Given the description of an element on the screen output the (x, y) to click on. 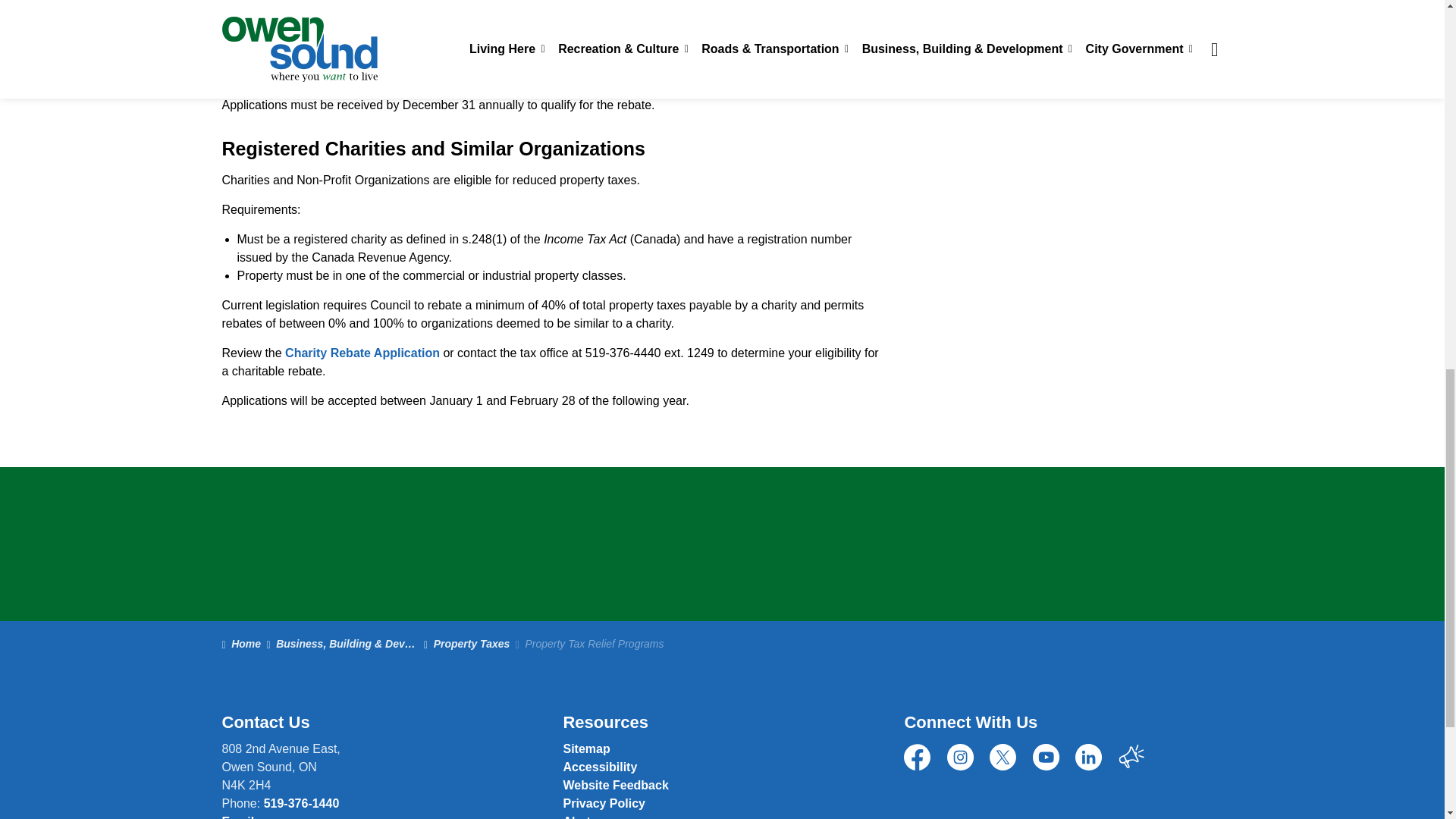
319 Application Owen Sound 002 (375, 74)
Sitemap (586, 748)
News and Public Notices (579, 816)
Privacy Policy (603, 802)
Accessibility (599, 766)
Contacts Directory (615, 784)
Contacts Directory (1014, 37)
Contacts Directory (245, 816)
Open new window to view Charity Rebate Application (362, 352)
